Given the description of an element on the screen output the (x, y) to click on. 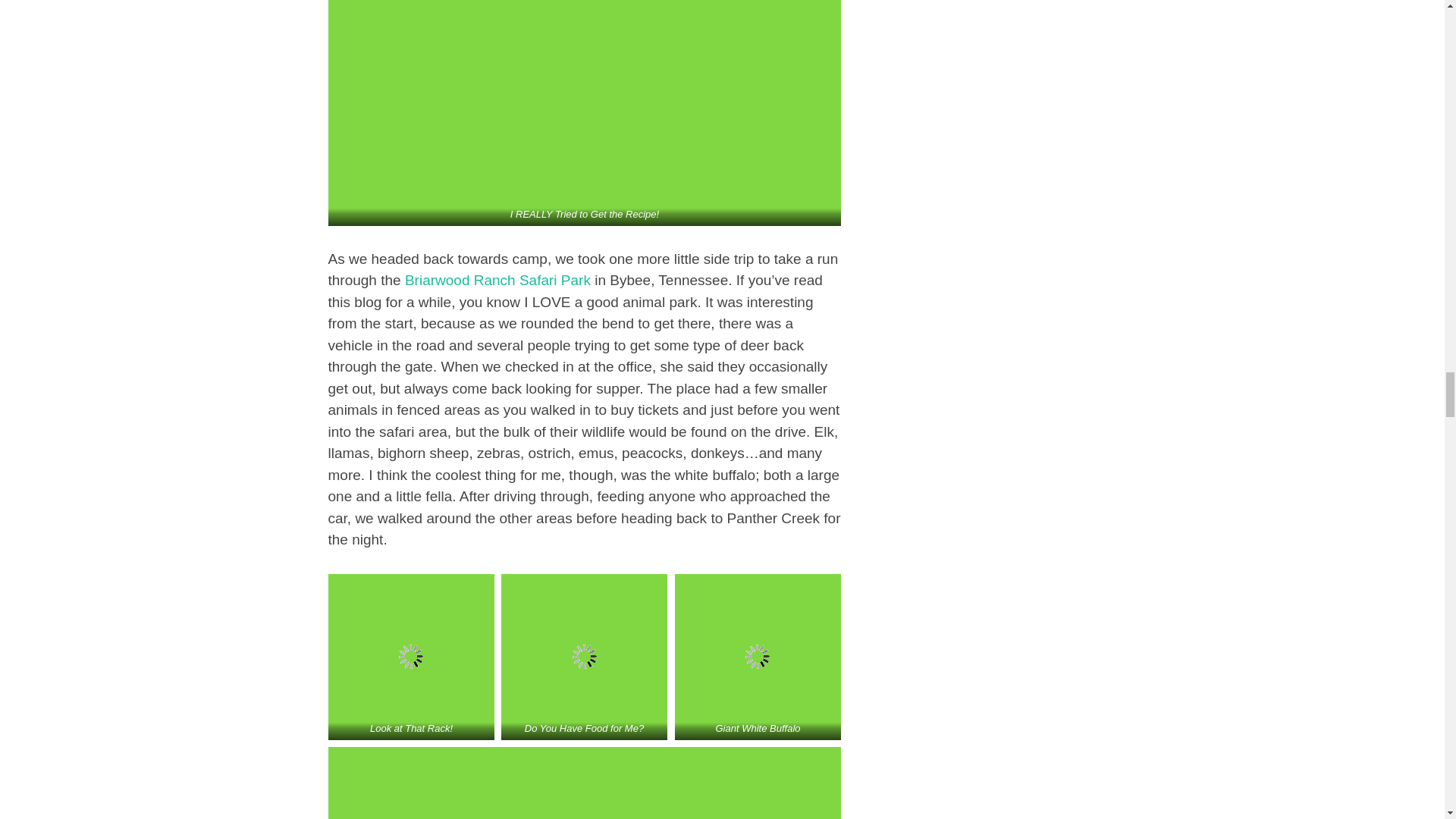
Briarwood Ranch Safari Park (497, 279)
